Given the description of an element on the screen output the (x, y) to click on. 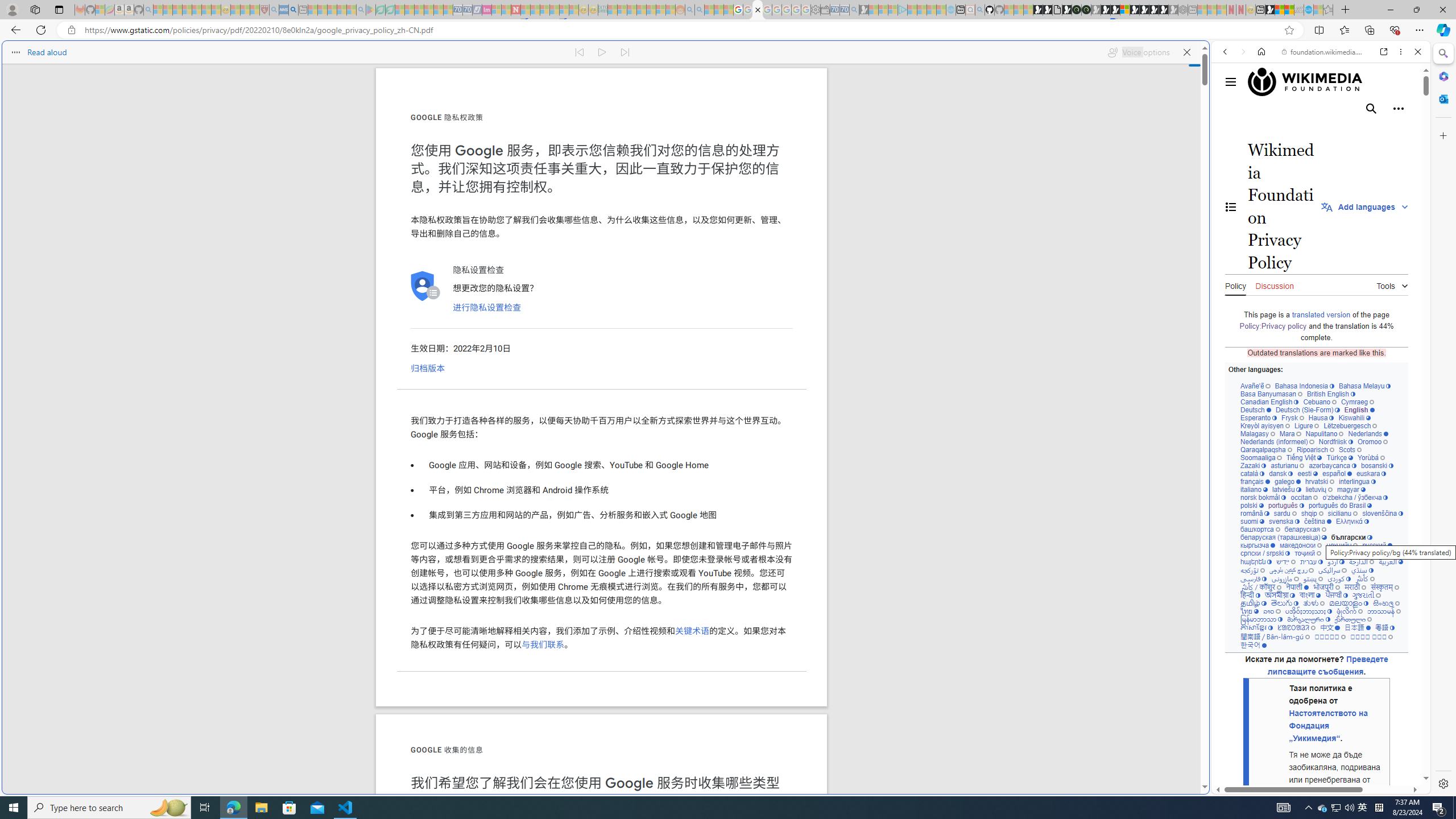
Main menu (1230, 81)
Close read aloud (1186, 52)
shqip (1311, 513)
